Given the description of an element on the screen output the (x, y) to click on. 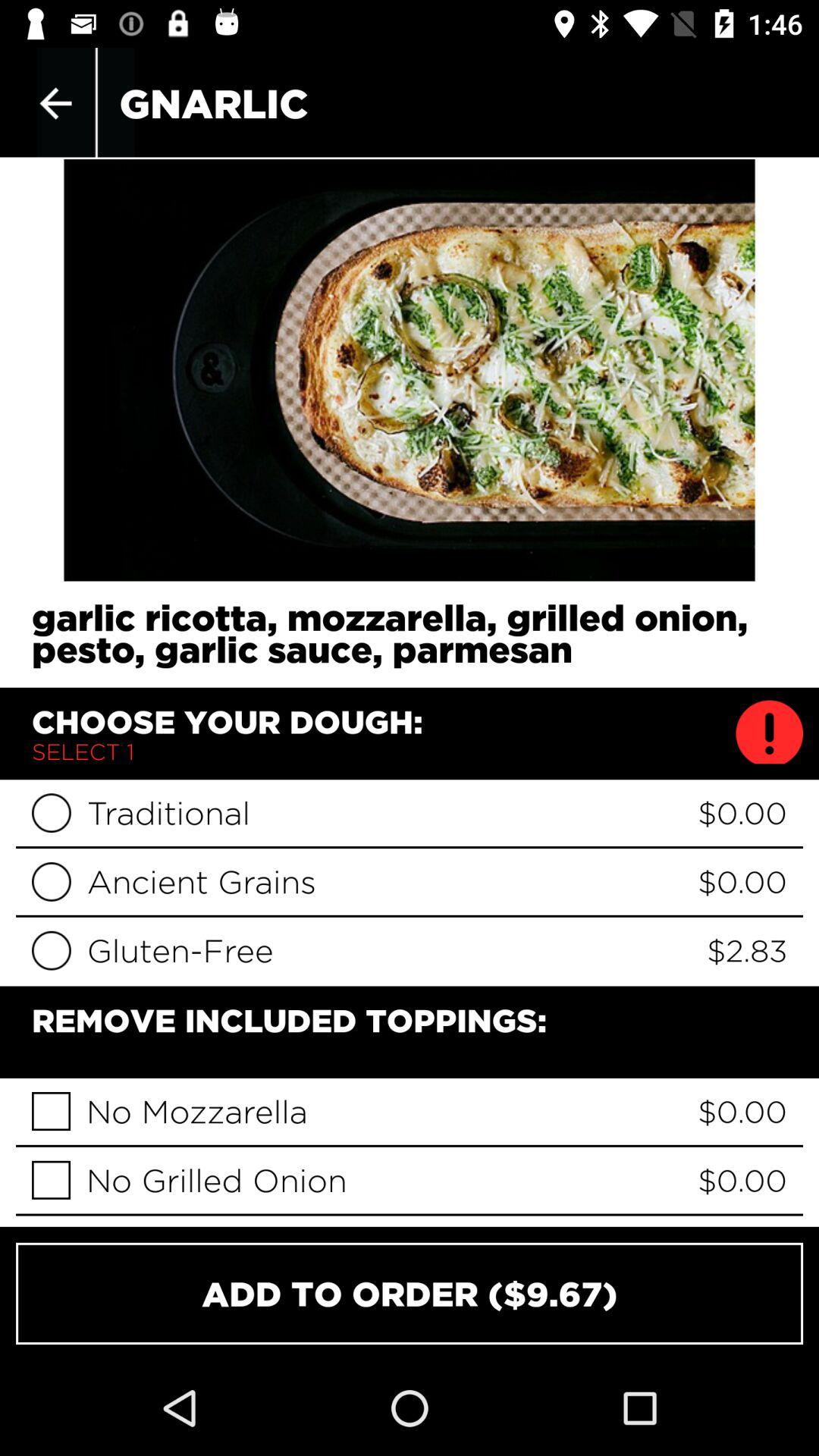
select no grilled onion (50, 1179)
